Given the description of an element on the screen output the (x, y) to click on. 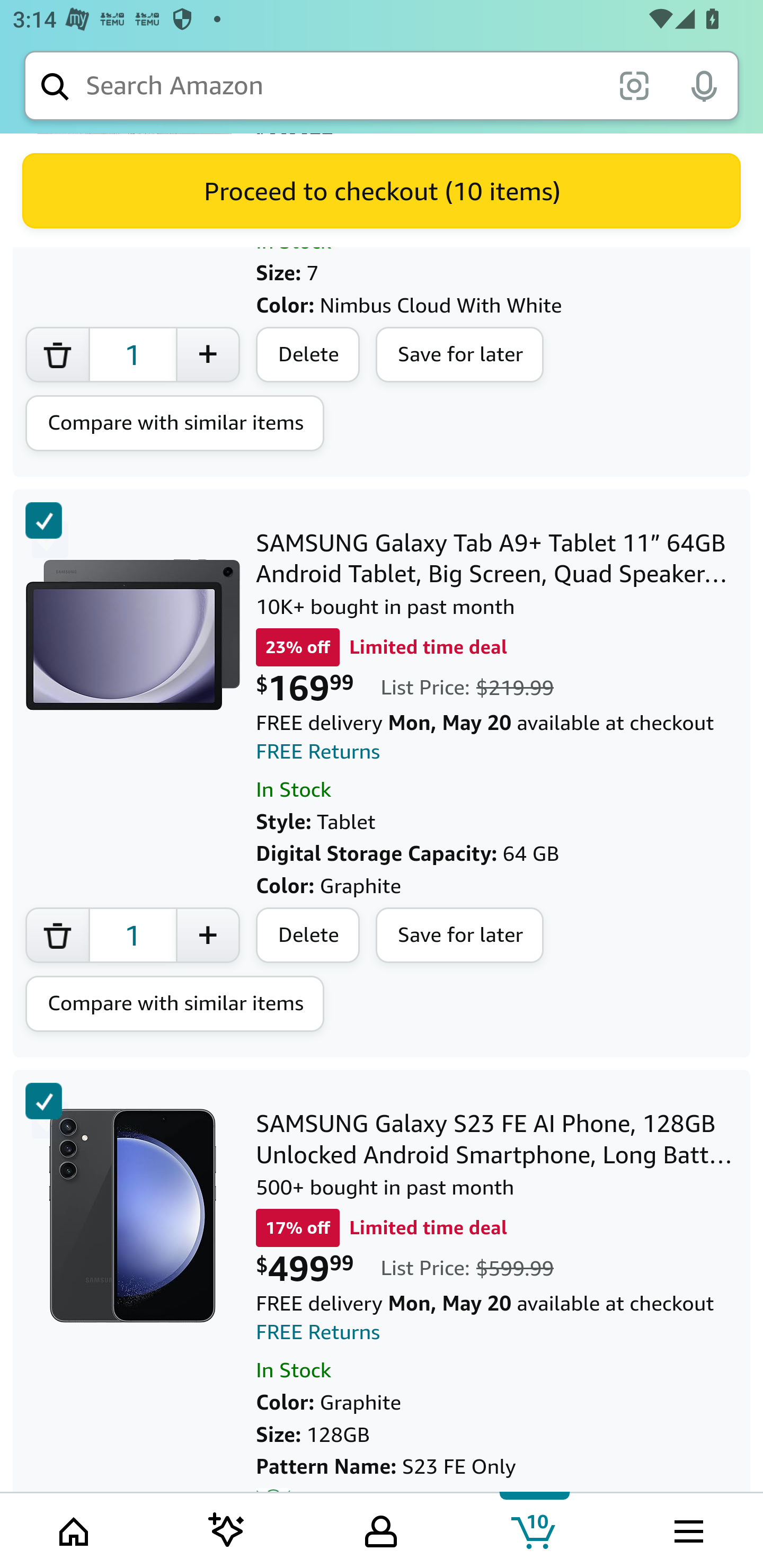
scan it (633, 85)
Proceed to checkout (10 items) (381, 190)
Delete (308, 355)
Save for later (459, 355)
1 (132, 355)
Compare with similar items (174, 423)
FREE Returns (318, 752)
Delete (308, 935)
Save for later (459, 935)
1 (132, 935)
Compare with similar items (174, 1004)
FREE Returns (318, 1332)
Home Tab 1 of 5 (75, 1529)
Inspire feed Tab 2 of 5 (227, 1529)
Your Amazon.com Tab 3 of 5 (380, 1529)
Cart 10 items Tab 4 of 5 10 (534, 1529)
Browse menu Tab 5 of 5 (687, 1529)
